Given the description of an element on the screen output the (x, y) to click on. 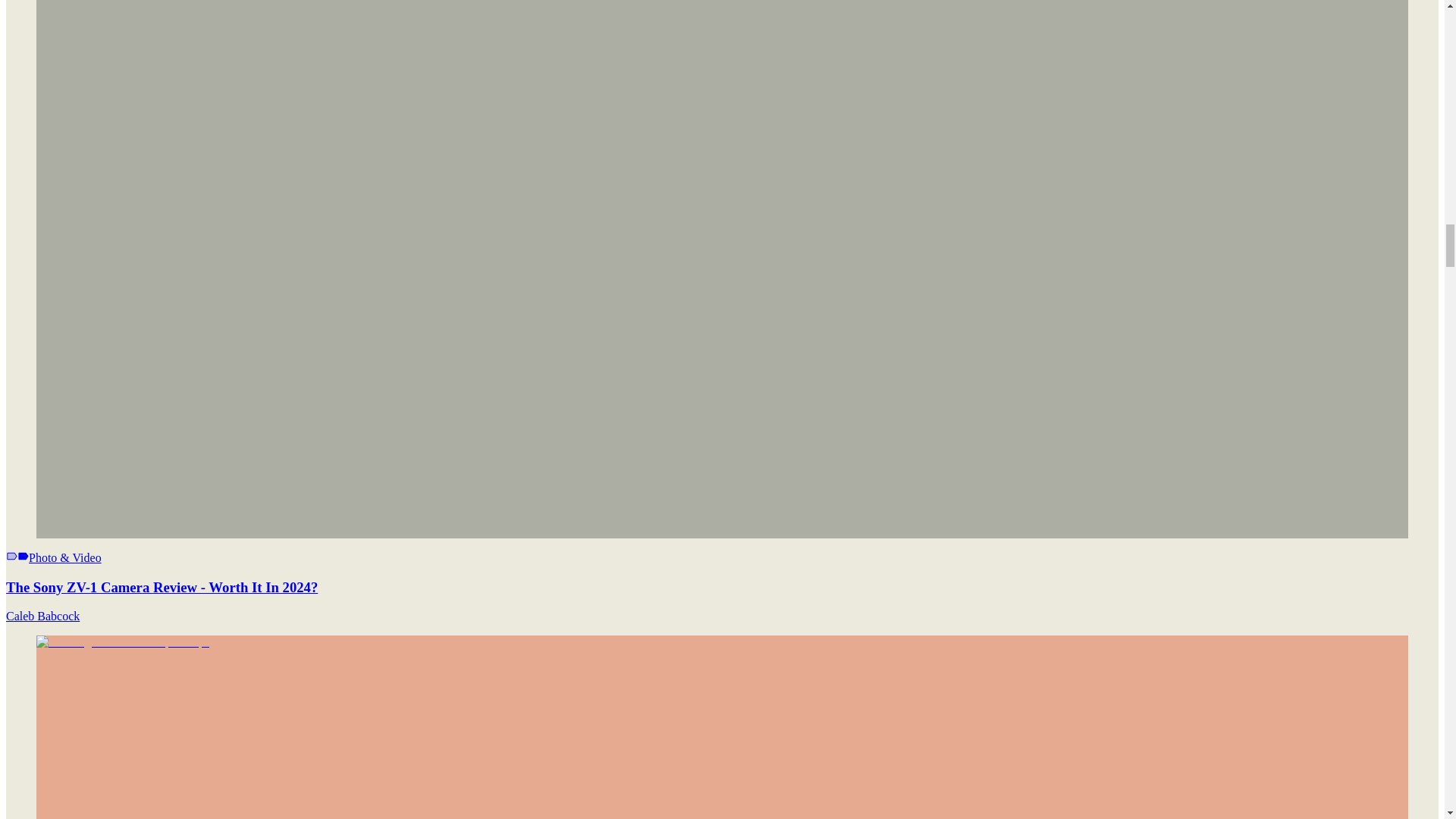
Caleb Babcock (42, 615)
The Sony ZV-1 Camera Review - Worth It In 2024? (161, 587)
